Given the description of an element on the screen output the (x, y) to click on. 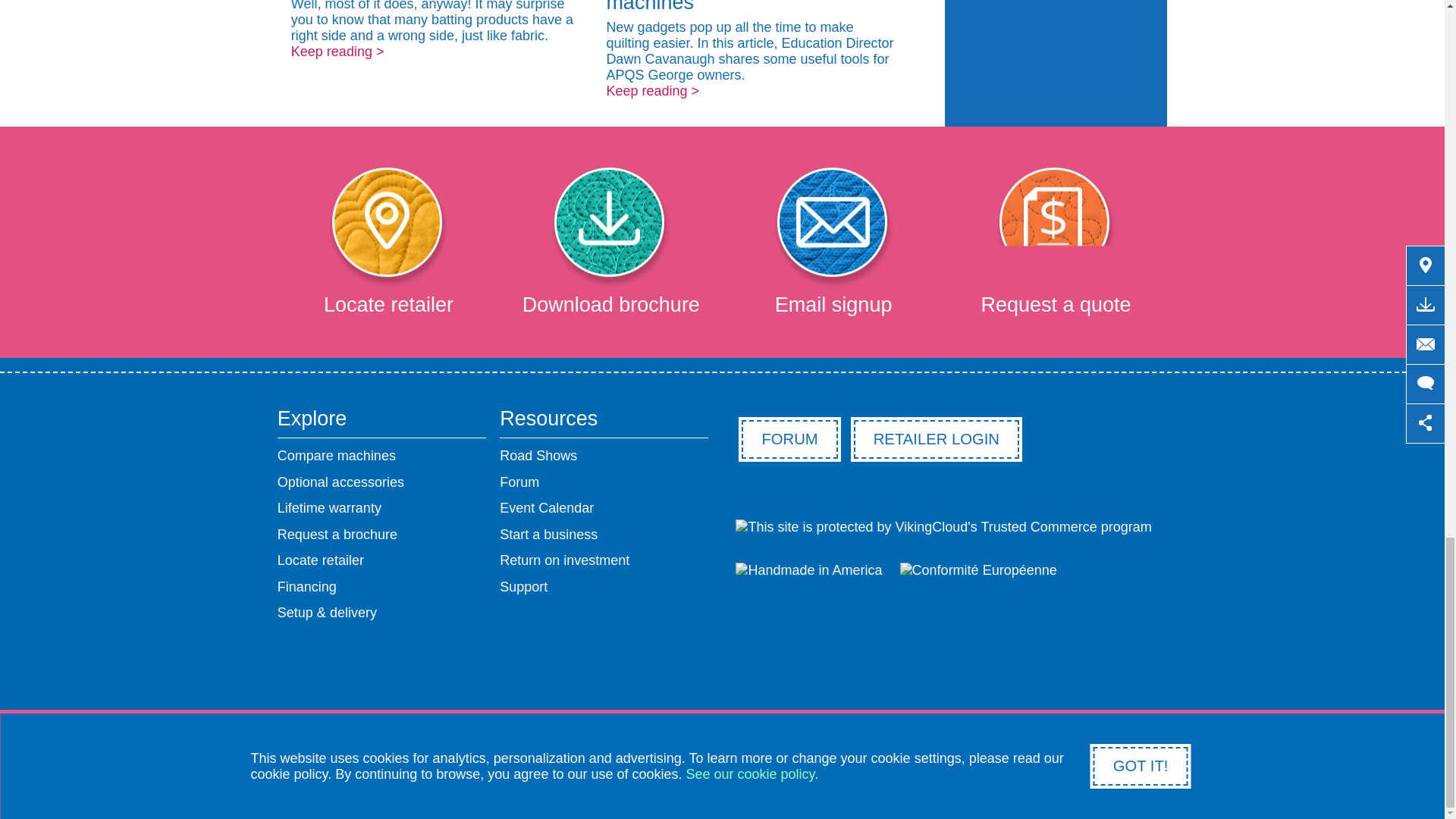
YouTube (780, 668)
Pinterest (662, 668)
Facebook (604, 668)
LinkedIn (839, 668)
Instagram (721, 668)
